Given the description of an element on the screen output the (x, y) to click on. 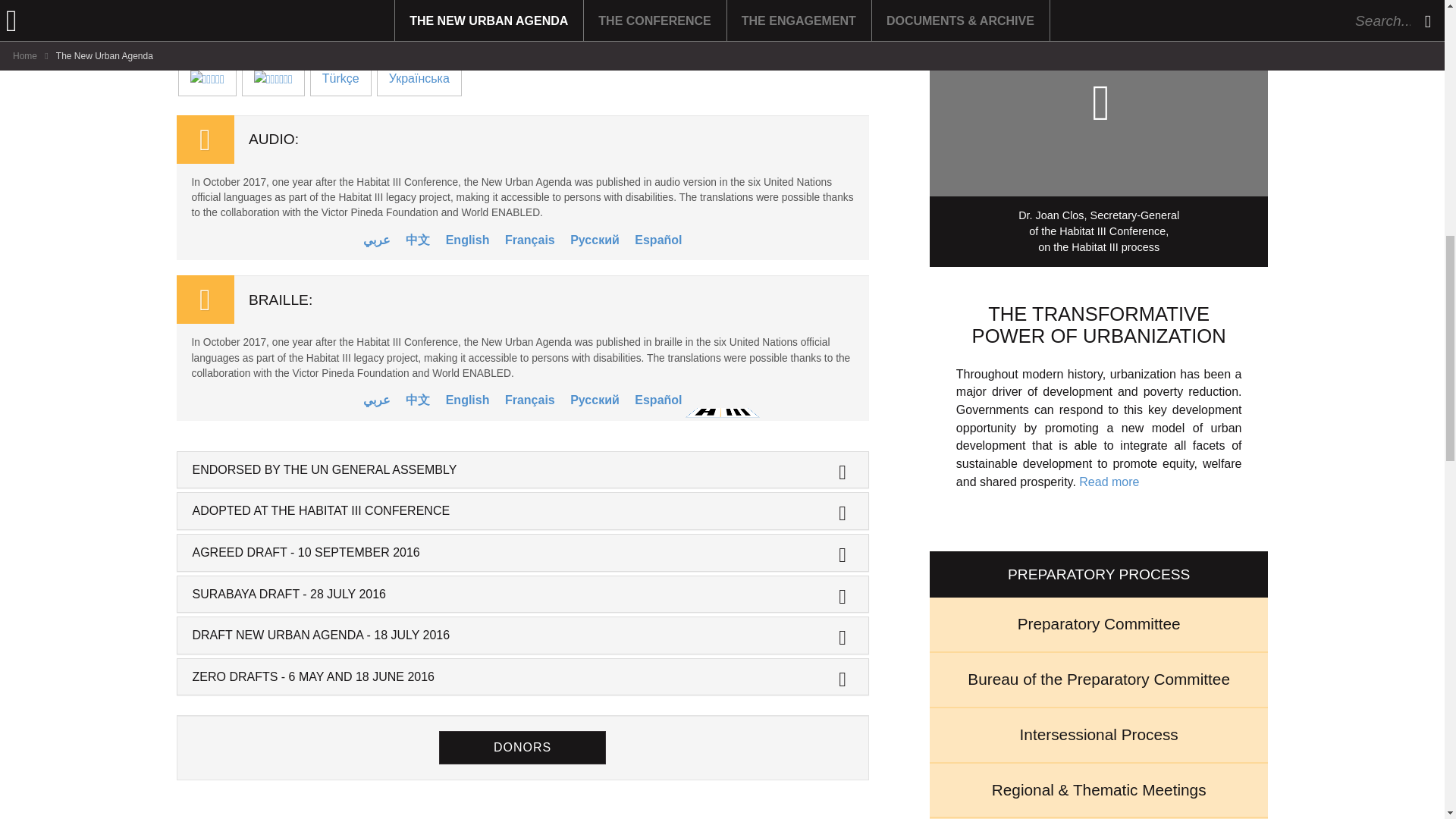
Kannada (521, 9)
Bahasa Indonesia (237, 9)
Japanese (456, 9)
Lao (585, 9)
Bahasa Malaysia (363, 9)
